Given the description of an element on the screen output the (x, y) to click on. 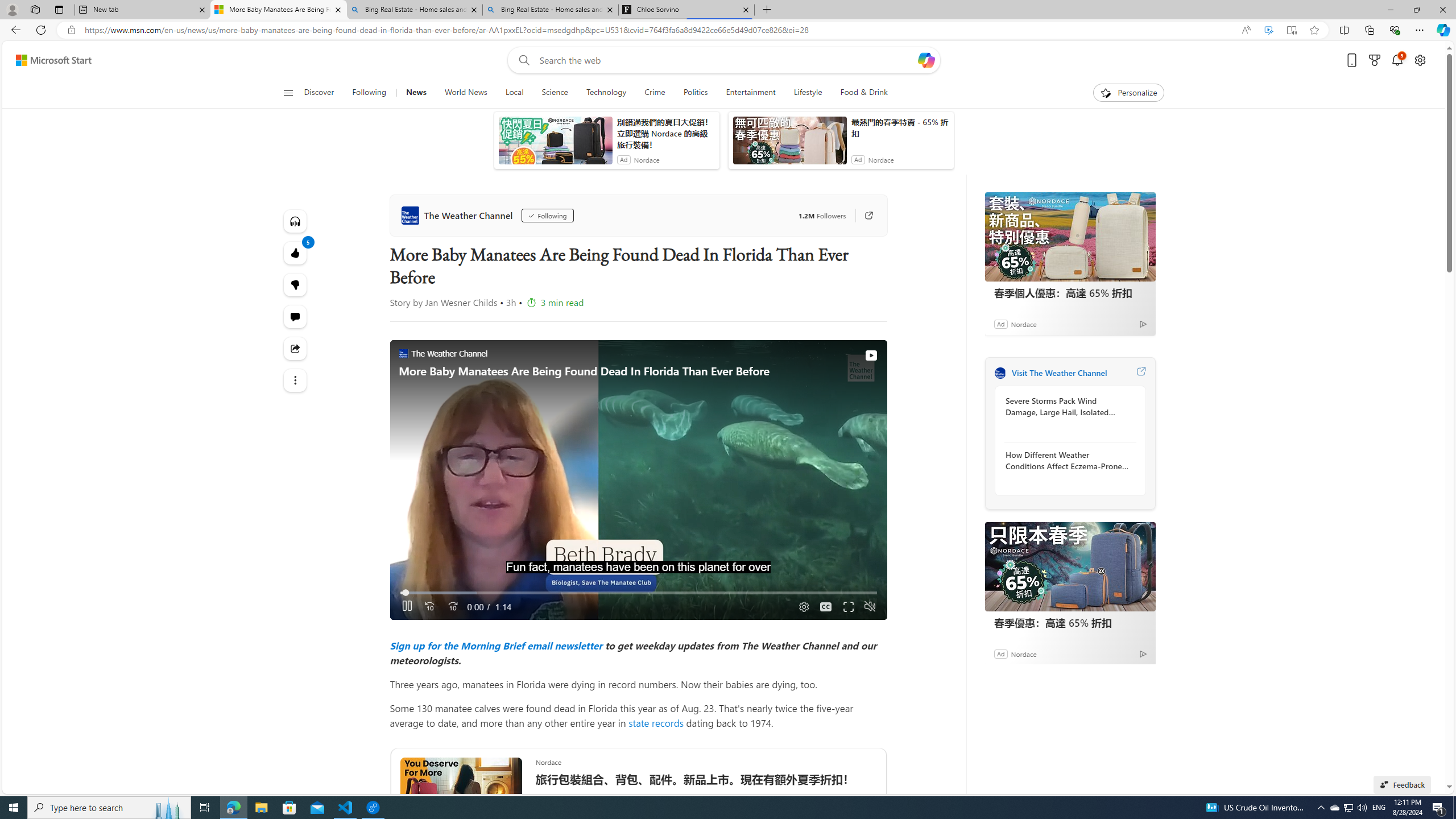
Enter Immersive Reader (F9) (1291, 29)
Crime (654, 92)
View on Watch (870, 355)
Seek Forward (452, 606)
Open Copilot (926, 59)
Progress Bar (638, 592)
Food & Drink (864, 92)
Crime (655, 92)
Open Copilot (925, 59)
Share this story (295, 348)
More like this5Fewer like thisStart the conversation (295, 284)
